Given the description of an element on the screen output the (x, y) to click on. 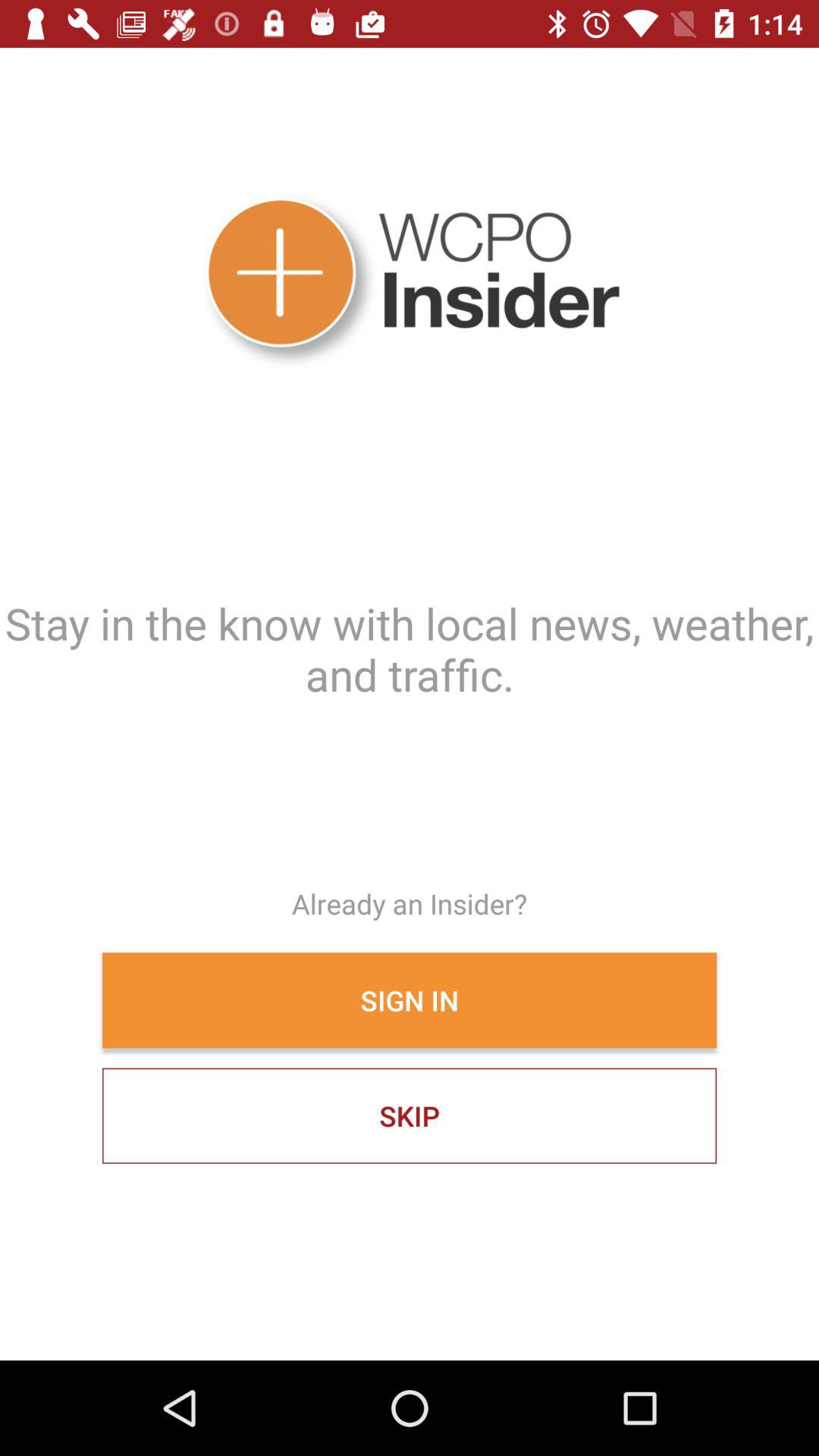
turn off item below the already an insider? (409, 1000)
